Given the description of an element on the screen output the (x, y) to click on. 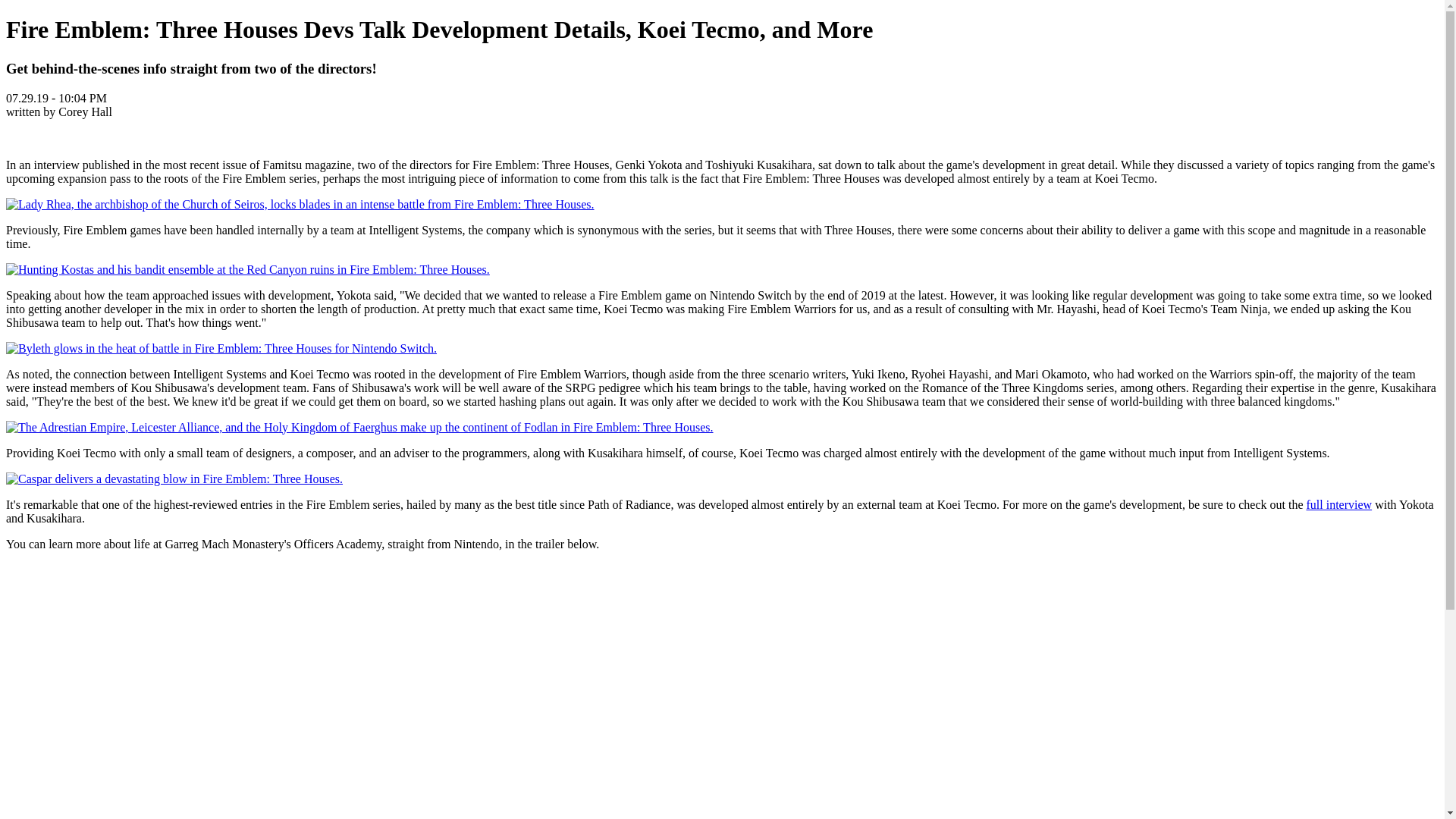
our Twitch channel (863, 818)
full interview (1338, 504)
will be streaming (1152, 818)
